Given the description of an element on the screen output the (x, y) to click on. 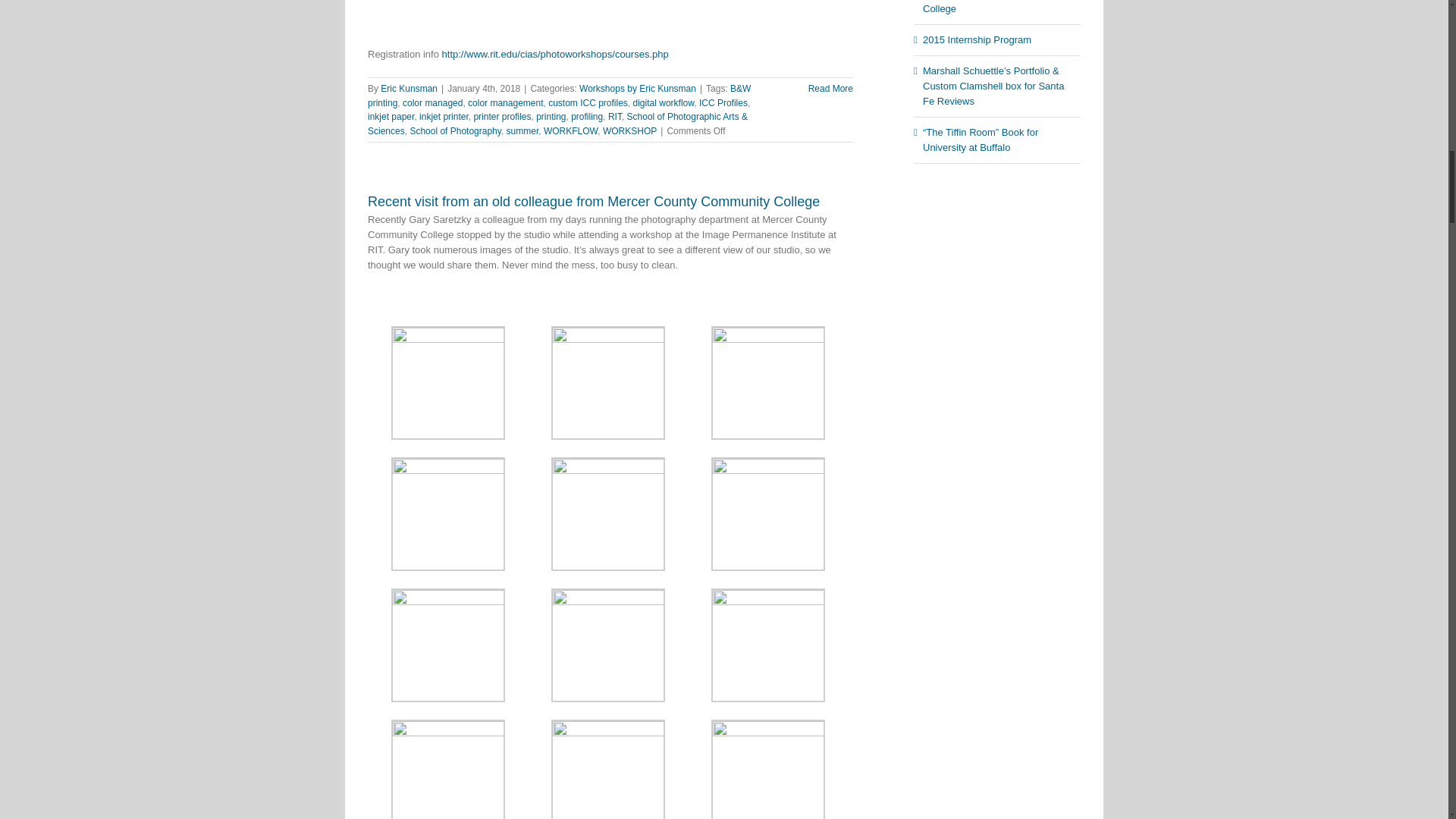
Posts by Eric Kunsman (409, 88)
